Given the description of an element on the screen output the (x, y) to click on. 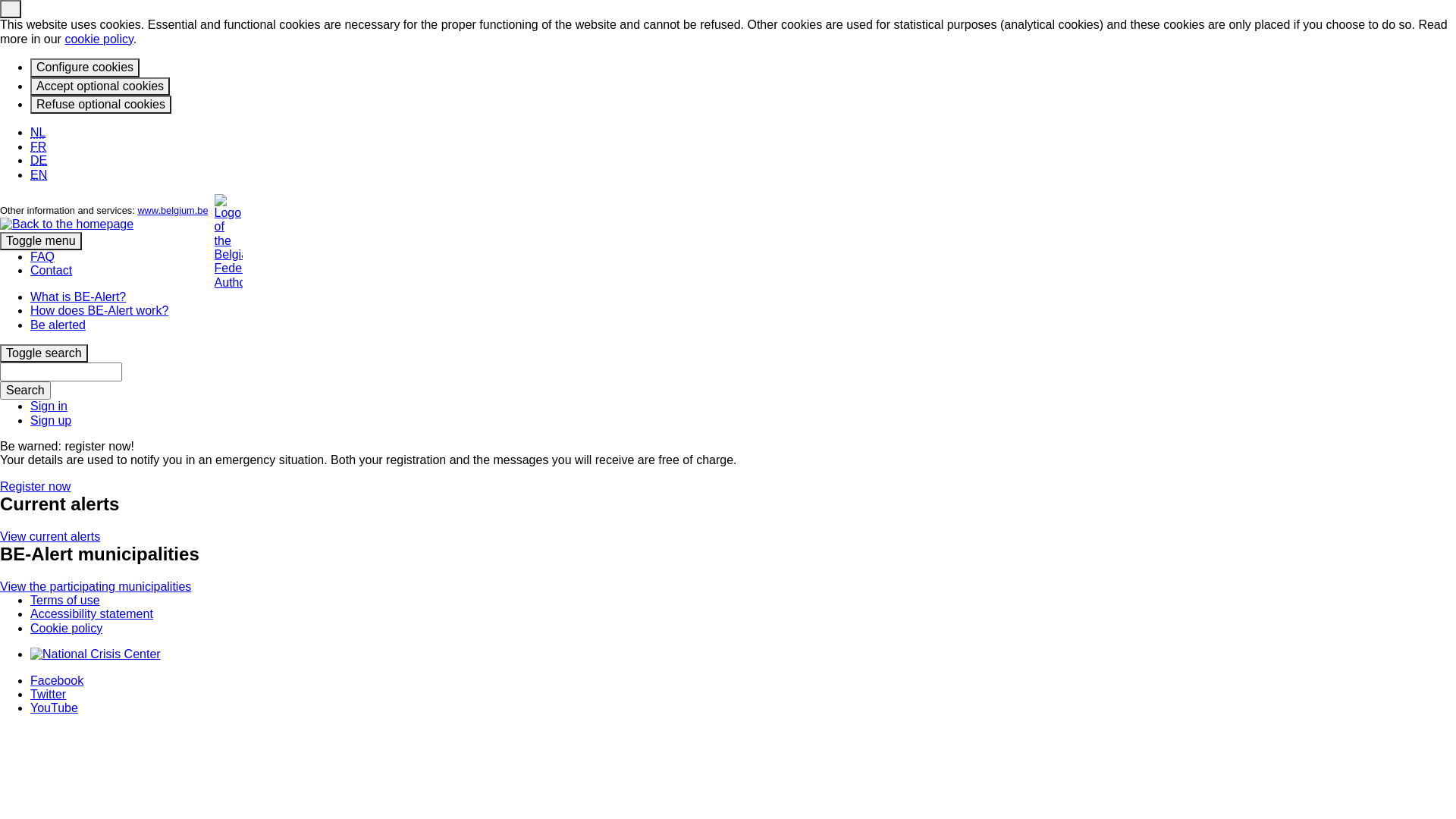
FAQ Element type: text (42, 256)
Accessibility statement Element type: text (91, 613)
View the participating municipalities Element type: text (95, 586)
How does BE-Alert work? Element type: text (99, 310)
Be alerted Element type: text (57, 324)
Back to the homepage Element type: hover (66, 223)
Sign up Element type: text (50, 420)
EN Element type: text (38, 174)
Refuse optional cookies Element type: text (100, 104)
NL Element type: text (37, 131)
View current alerts Element type: text (50, 536)
www.belgium.be Element type: text (172, 210)
Toggle menu Element type: text (40, 241)
Accept optional cookies Element type: text (99, 86)
Terms of use Element type: text (65, 599)
Twitter Element type: text (47, 693)
Skip to main content Element type: text (0, 125)
Search Element type: text (25, 390)
Enter the terms you wish to search for. Element type: hover (61, 371)
Register now Element type: text (35, 486)
Configure cookies Element type: text (84, 67)
Close Element type: text (10, 9)
cookie policy Element type: text (98, 38)
Cookie policy Element type: text (66, 627)
What is BE-Alert? Element type: text (77, 296)
Toggle search Element type: text (43, 353)
Sign in Element type: text (48, 405)
Logo NCCN EN Element type: hover (95, 653)
Facebook Element type: text (56, 679)
YouTube Element type: text (54, 707)
Contact Element type: text (51, 269)
DE Element type: text (38, 159)
FR Element type: text (38, 146)
